Given the description of an element on the screen output the (x, y) to click on. 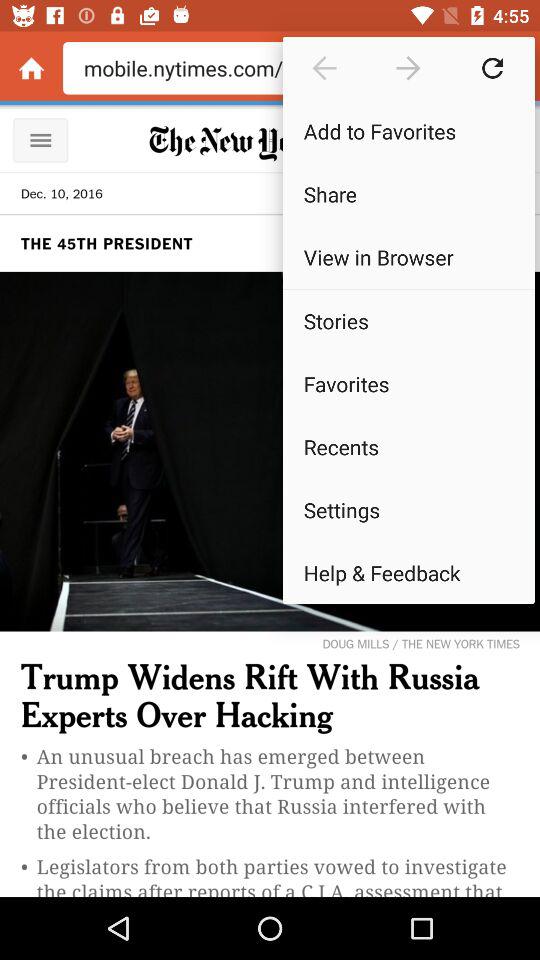
click item above view in browser (408, 193)
